Given the description of an element on the screen output the (x, y) to click on. 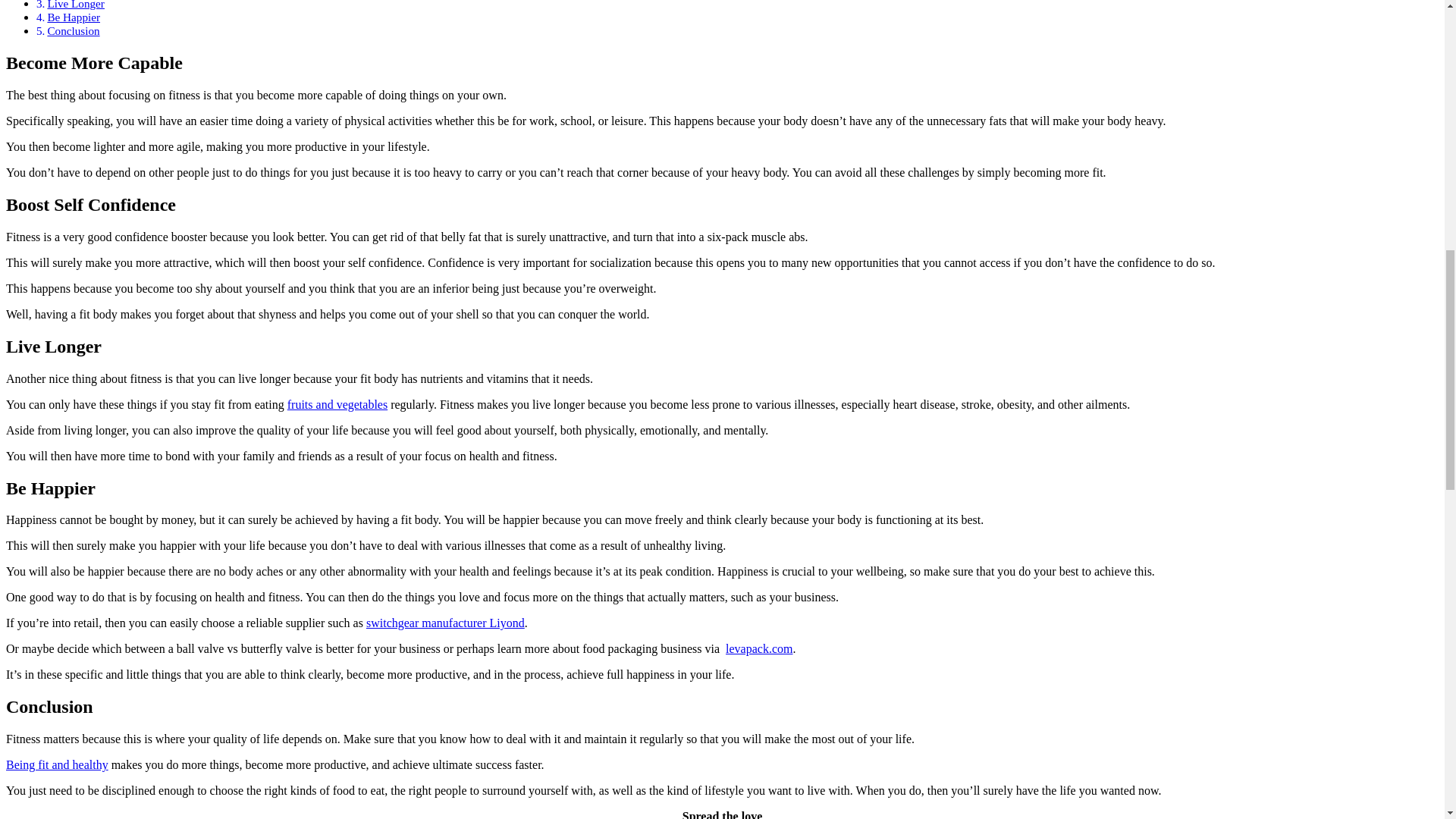
Conclusion (72, 30)
Live Longer (75, 4)
Live Longer (75, 4)
levapack.com (758, 648)
Being fit and healthy (56, 764)
Be Happier (73, 16)
Be Happier (73, 16)
fruits and vegetables (336, 404)
Conclusion (72, 30)
switchgear manufacturer Liyond (445, 622)
